Given the description of an element on the screen output the (x, y) to click on. 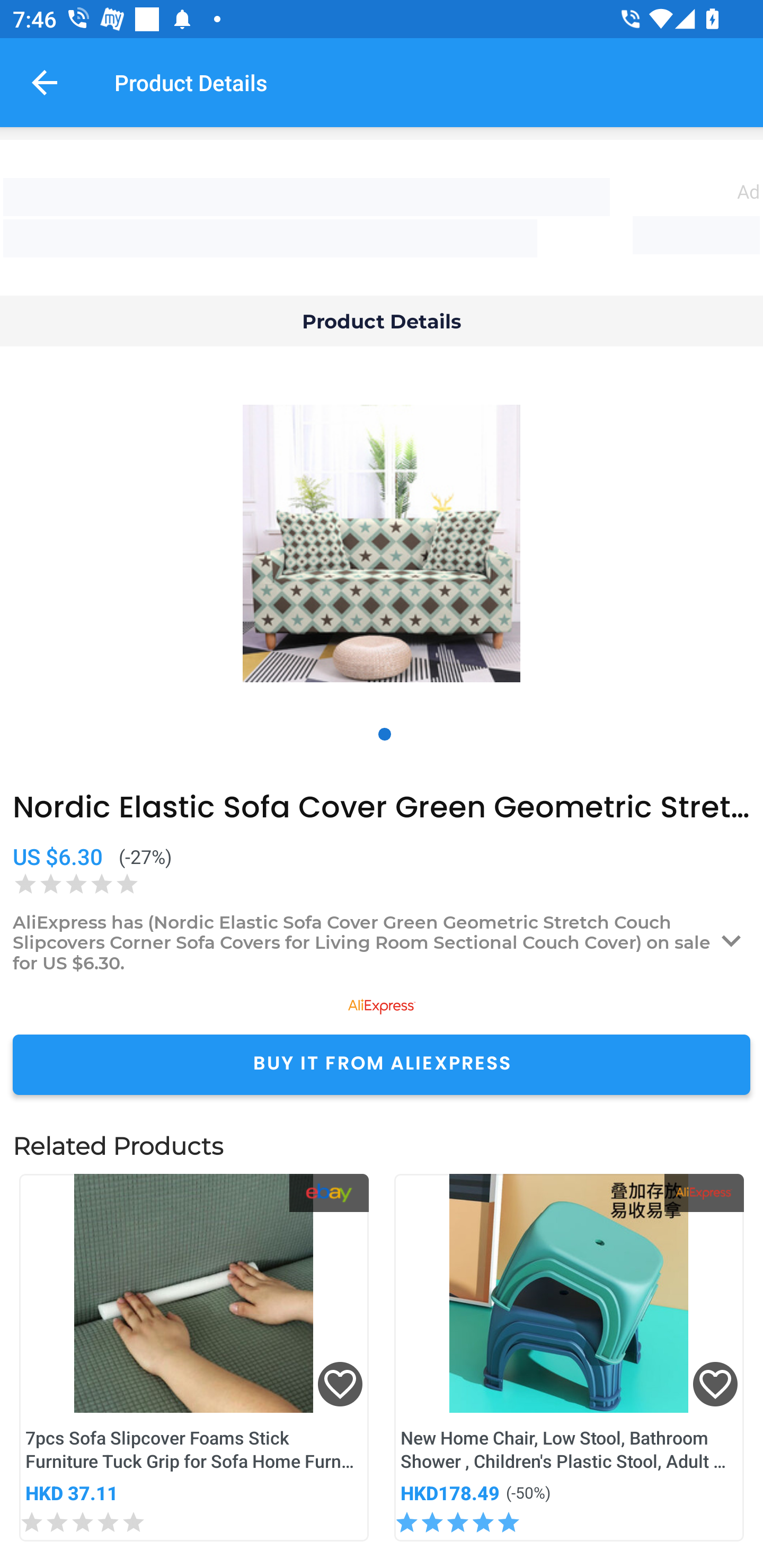
Navigate up (44, 82)
BUY IT FROM ALIEXPRESS (381, 1064)
